Given the description of an element on the screen output the (x, y) to click on. 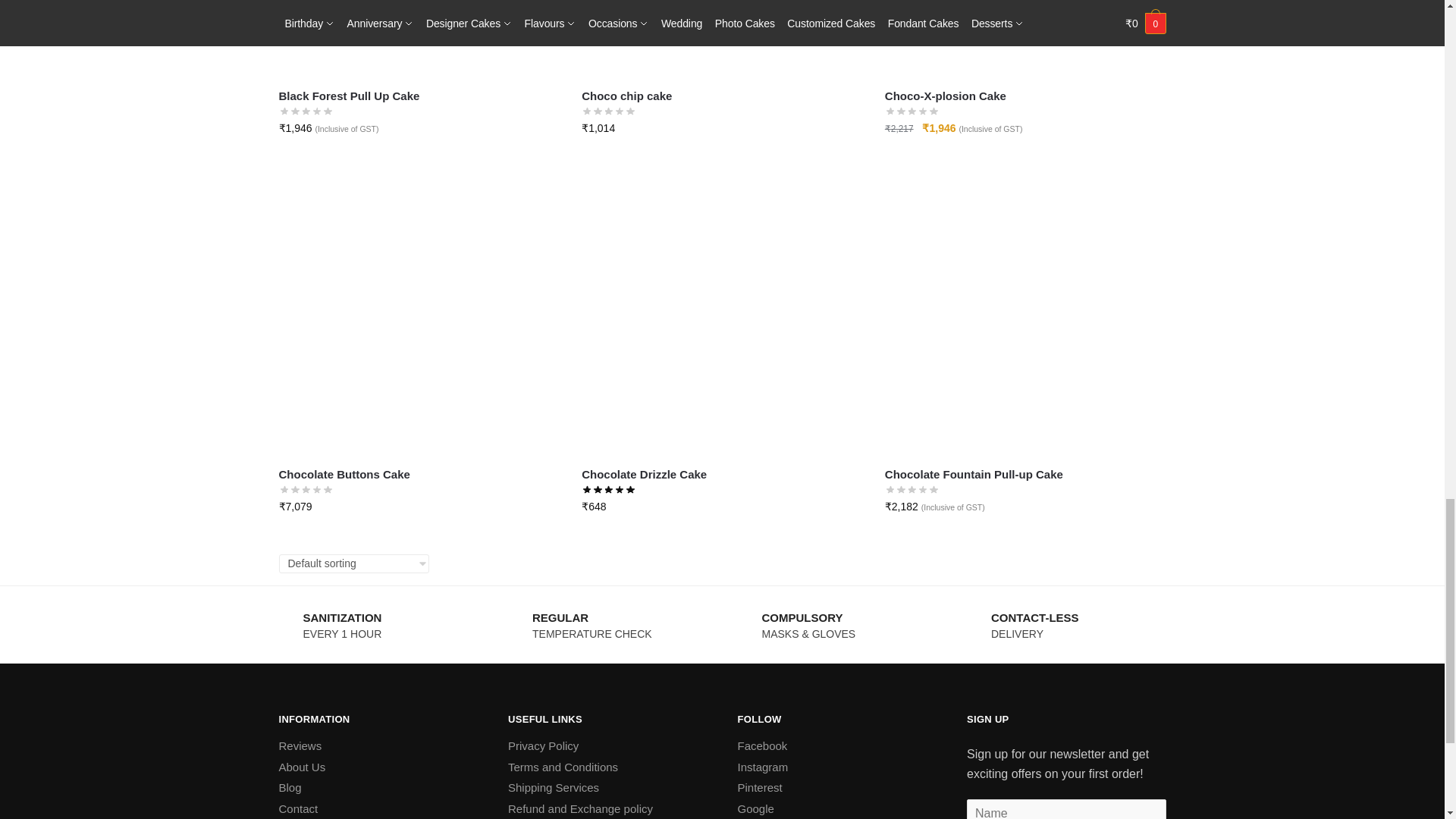
Choco chip cake (720, 38)
Chocolate Drizzle Cake (720, 316)
Chocolate Buttons Cake (419, 316)
Chocolate Fountain Pull-up Cake (1025, 316)
Black Forest Pull Up Cake (419, 38)
Choco-X-plosion Cake (1025, 38)
